Given the description of an element on the screen output the (x, y) to click on. 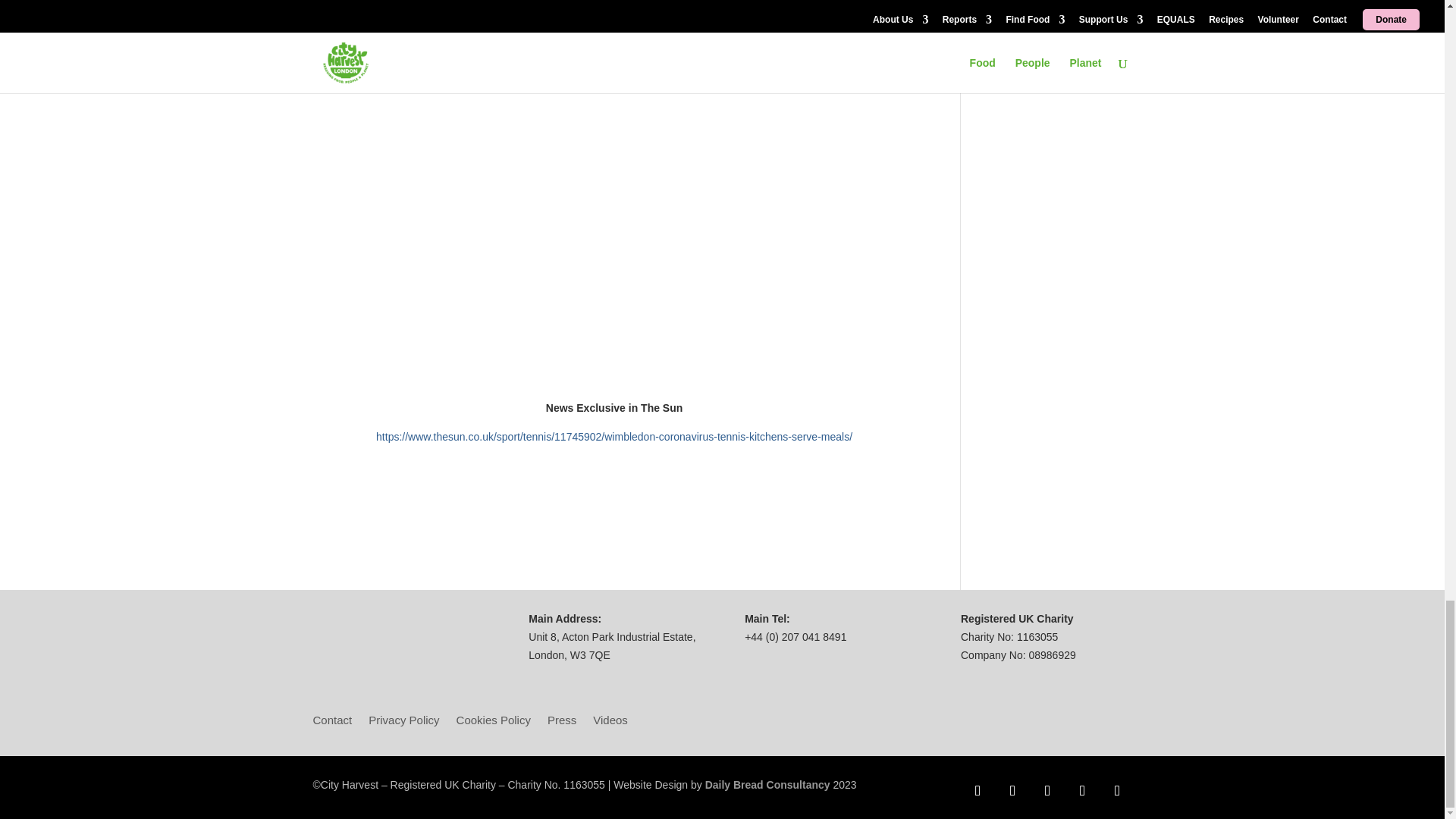
Follow on Facebook (976, 790)
Follow on X (1011, 790)
Follow on LinkedIn (1081, 790)
Follow on Instagram (1046, 790)
Follow on Youtube (1116, 790)
